Given the description of an element on the screen output the (x, y) to click on. 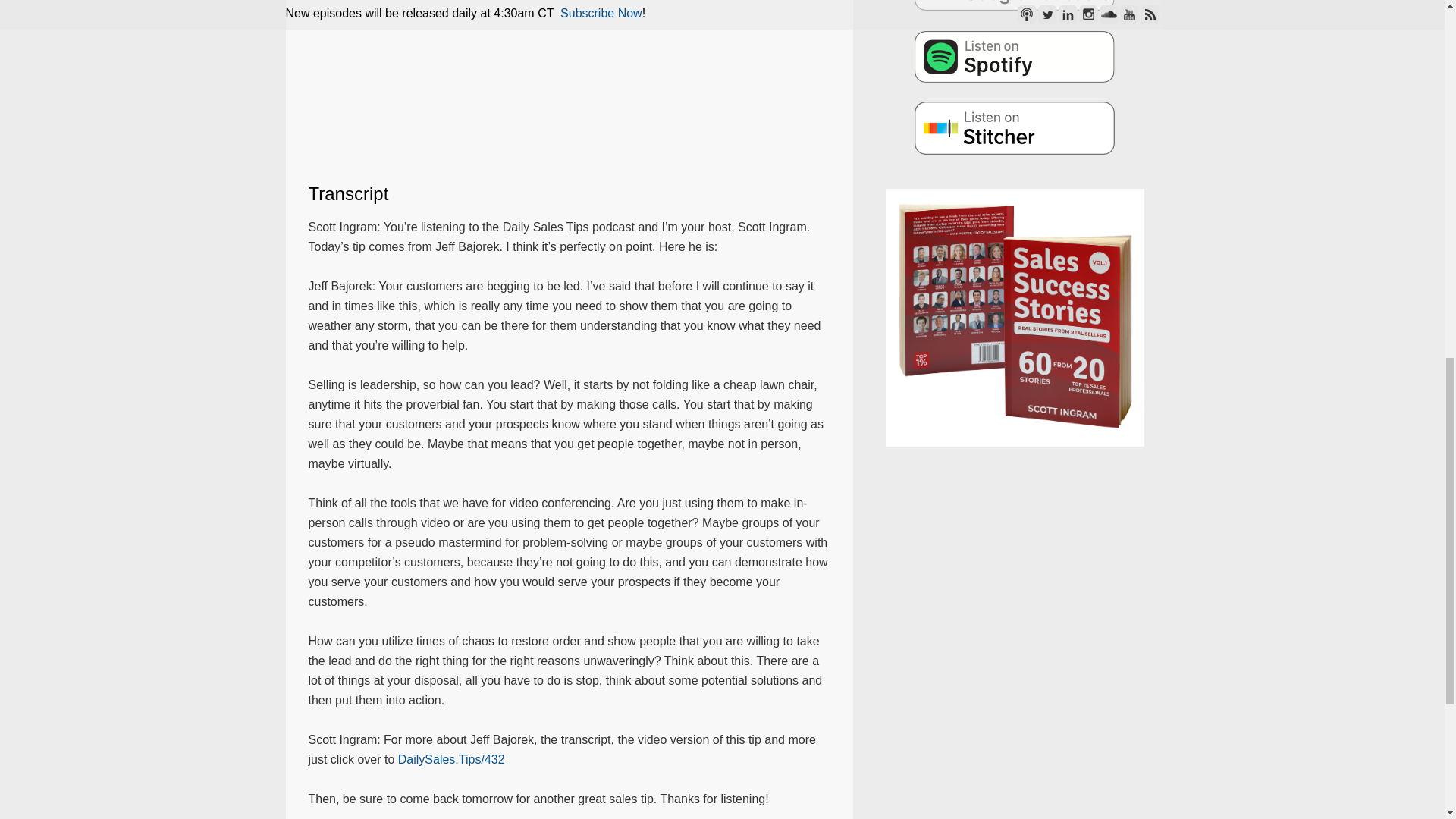
Daily Sales Tips on Spotify (1014, 55)
Daily Sales Tips on Google Podcasts (1014, 5)
Daily Sales Tips on Stitcher (1014, 127)
